Given the description of an element on the screen output the (x, y) to click on. 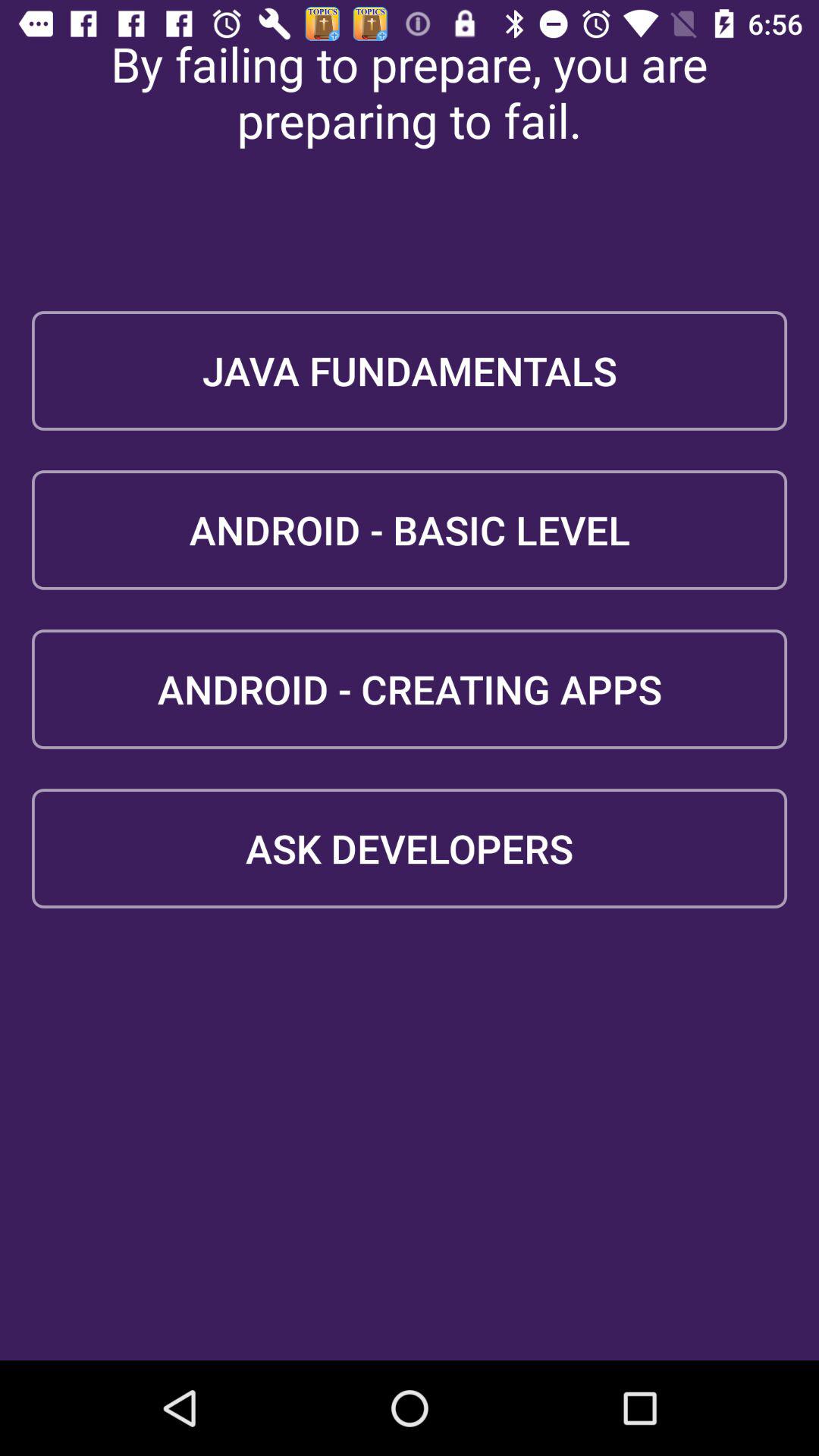
select item below the java fundamentals item (409, 529)
